Given the description of an element on the screen output the (x, y) to click on. 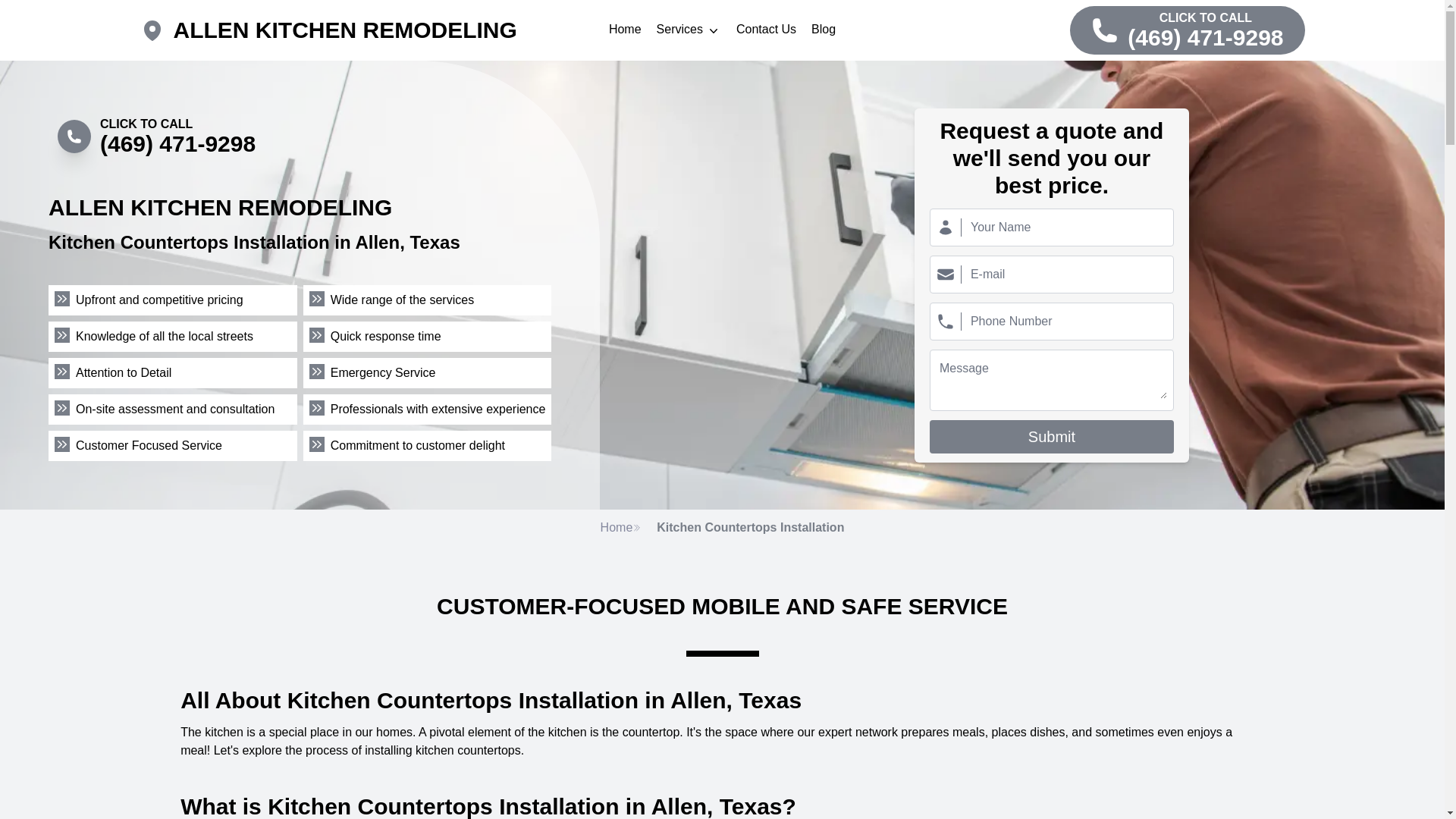
ALLEN KITCHEN REMODELING (344, 30)
Click to call us (156, 135)
Blog (822, 30)
Home (620, 528)
Contact Us (766, 30)
map link (156, 30)
Submit (1051, 436)
Services (688, 30)
Click to call us (1187, 29)
Home (625, 30)
